Given the description of an element on the screen output the (x, y) to click on. 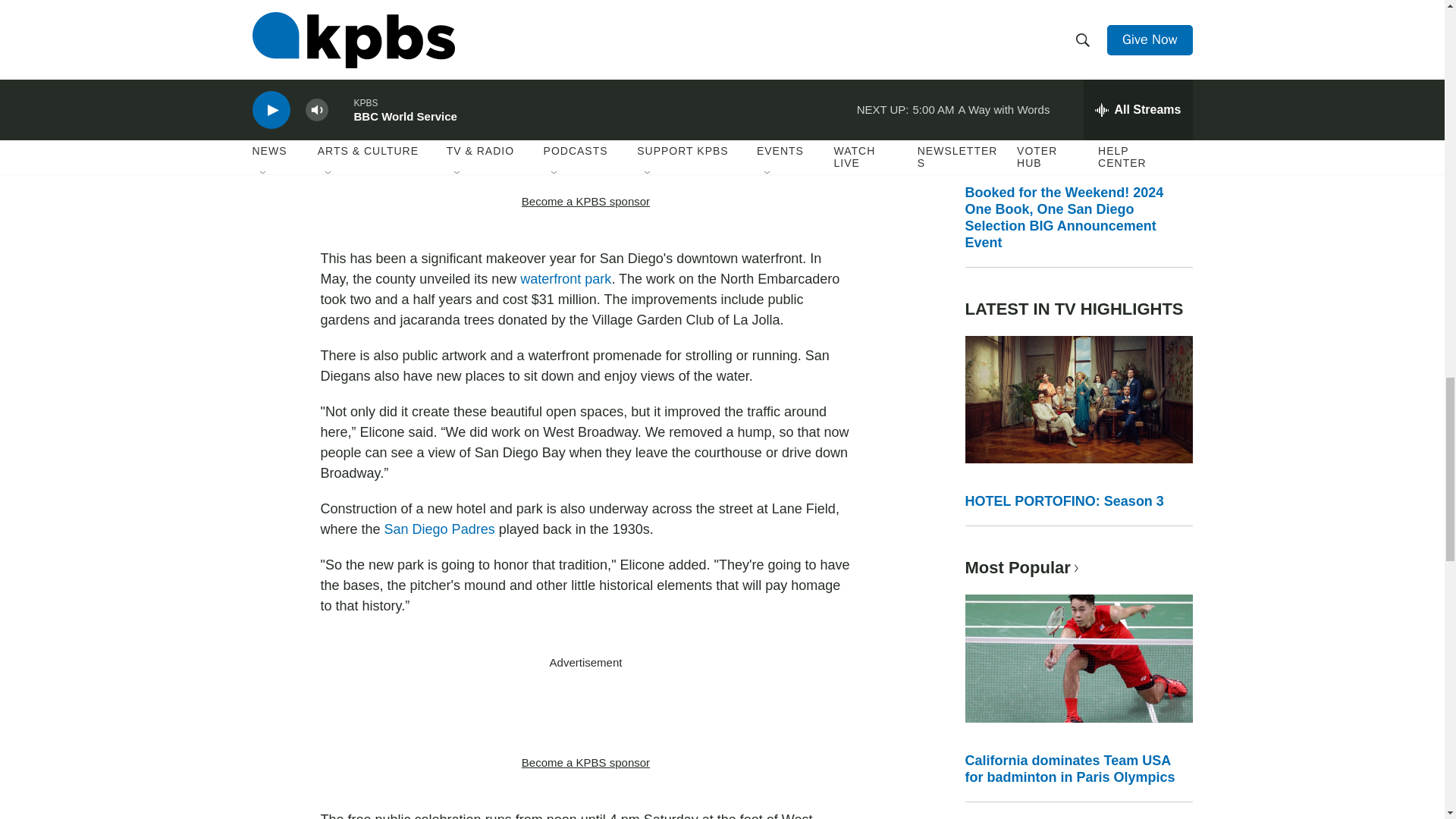
3rd party ad content (584, 151)
3rd party ad content (584, 712)
